Given the description of an element on the screen output the (x, y) to click on. 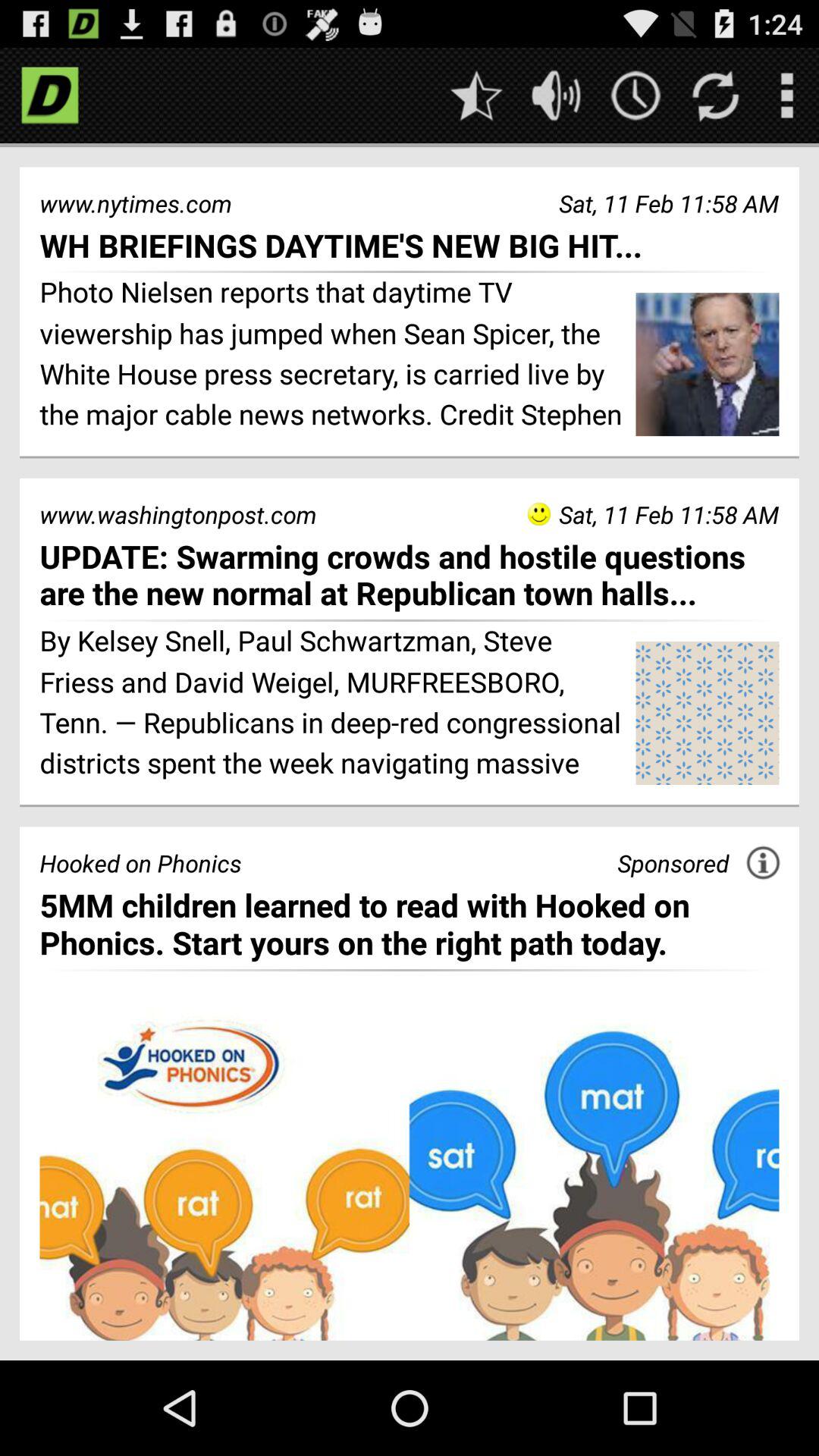
toggle sound (556, 95)
